Given the description of an element on the screen output the (x, y) to click on. 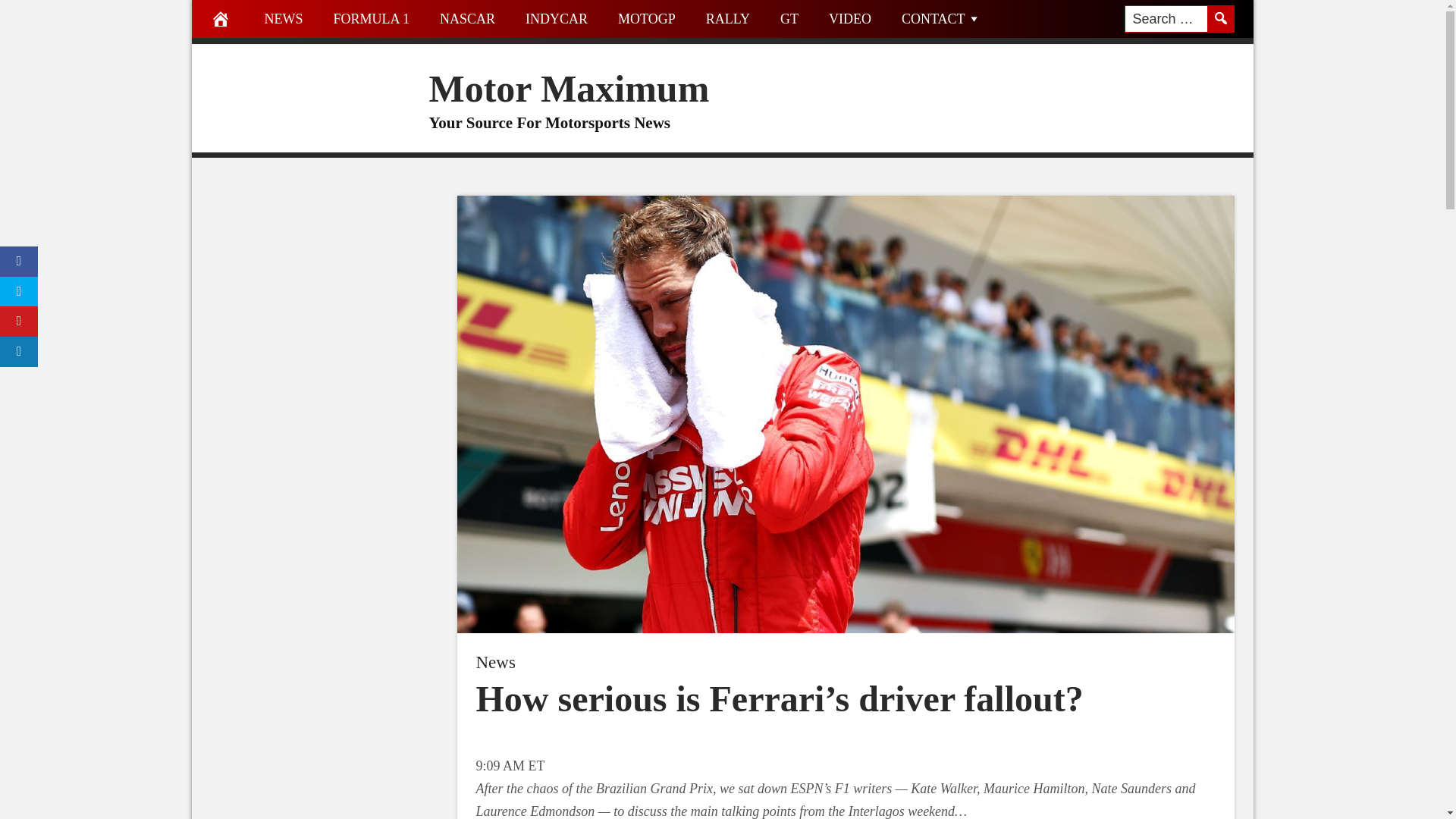
News (495, 661)
RALLY (727, 18)
MOTOGP (646, 18)
GT (789, 18)
News (495, 661)
VIDEO (849, 18)
FORMULA 1 (371, 18)
NASCAR (468, 18)
NEWS (282, 18)
NEWS FORMULA 1 NASCAR INDYCAR MOTOGP RALLY GT VIDEO CONTACT (721, 22)
